Given the description of an element on the screen output the (x, y) to click on. 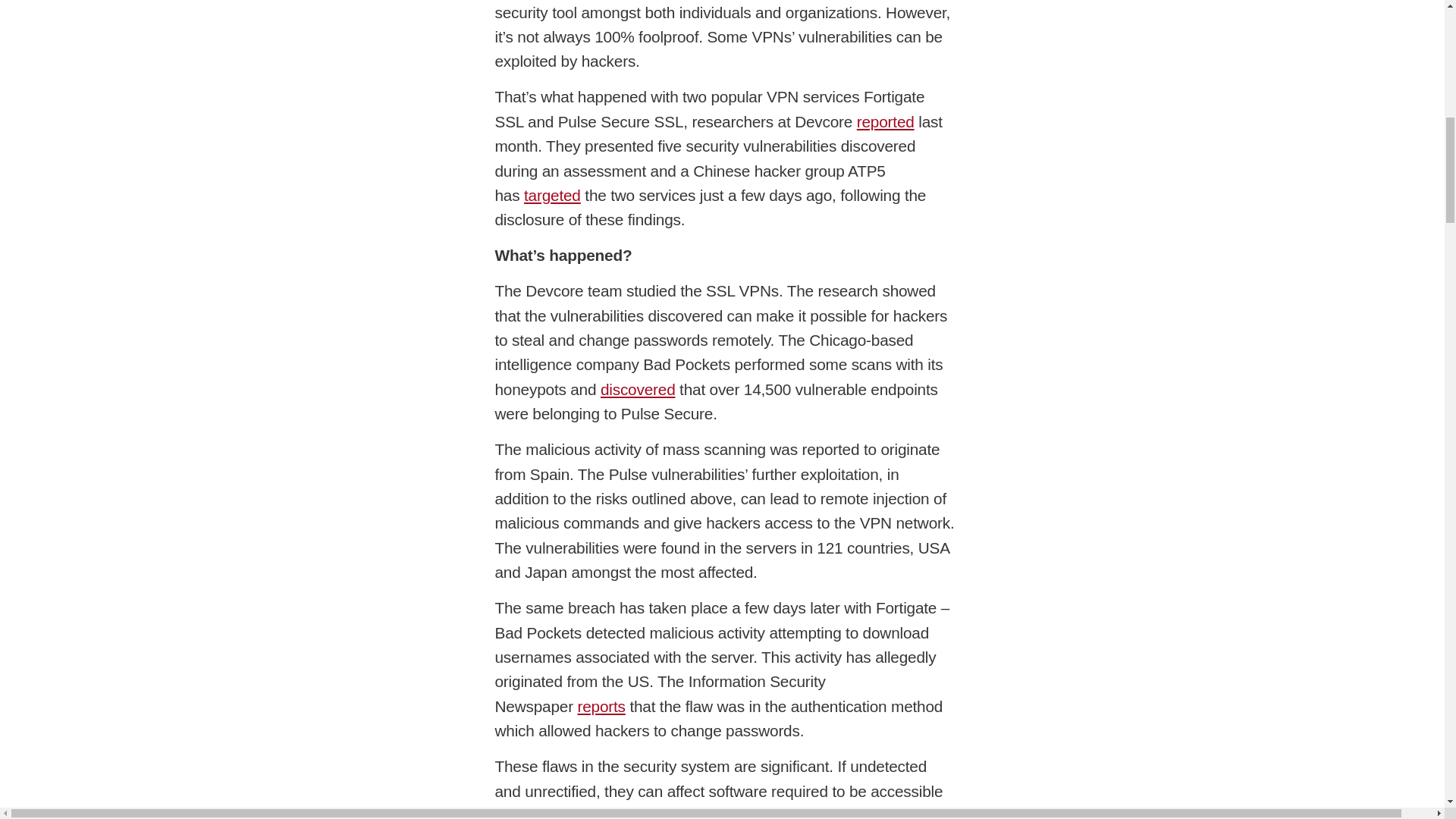
reported (885, 121)
targeted (552, 194)
reports (600, 705)
discovered (637, 389)
